Given the description of an element on the screen output the (x, y) to click on. 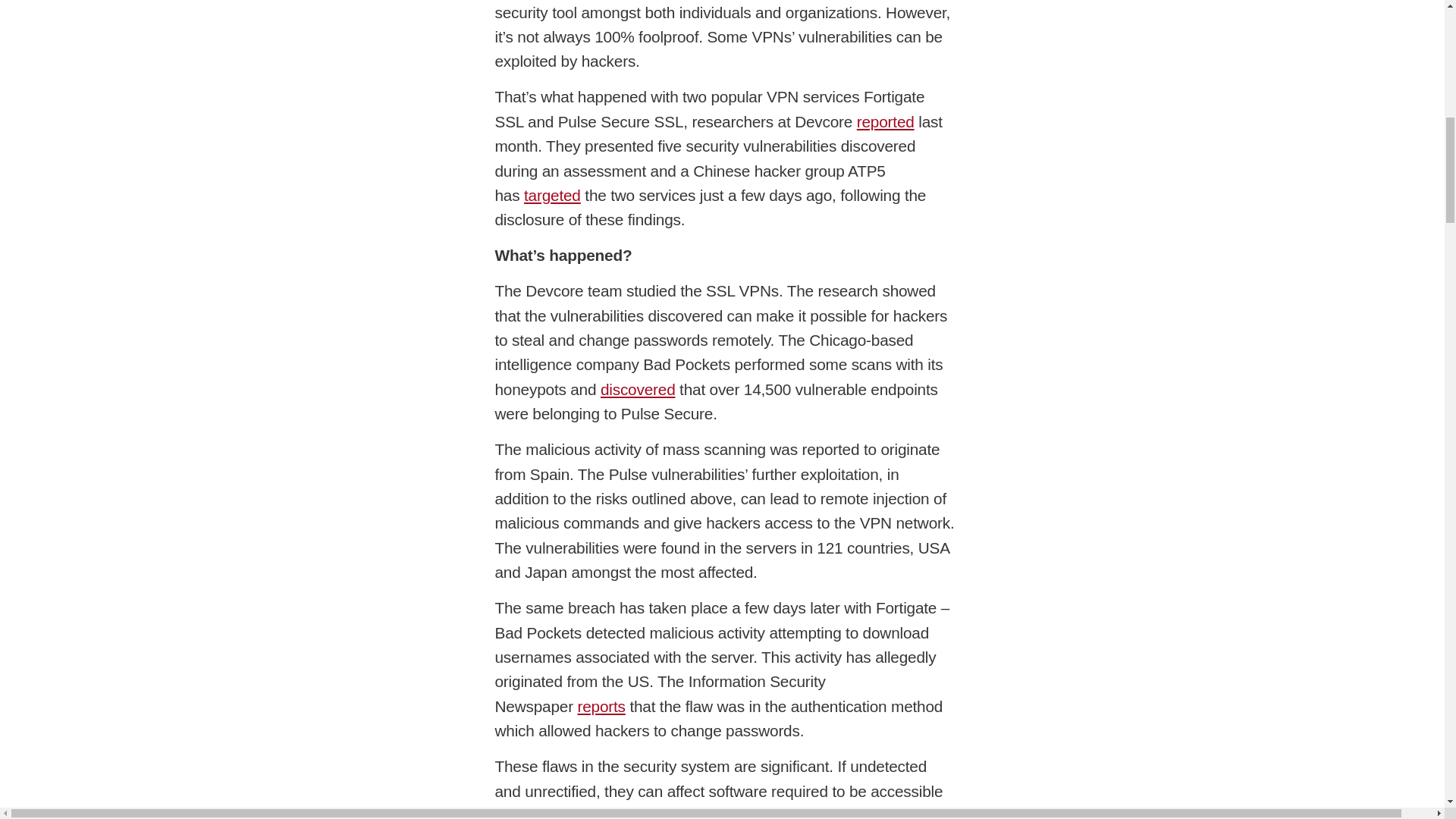
reported (885, 121)
targeted (552, 194)
reports (600, 705)
discovered (637, 389)
